Given the description of an element on the screen output the (x, y) to click on. 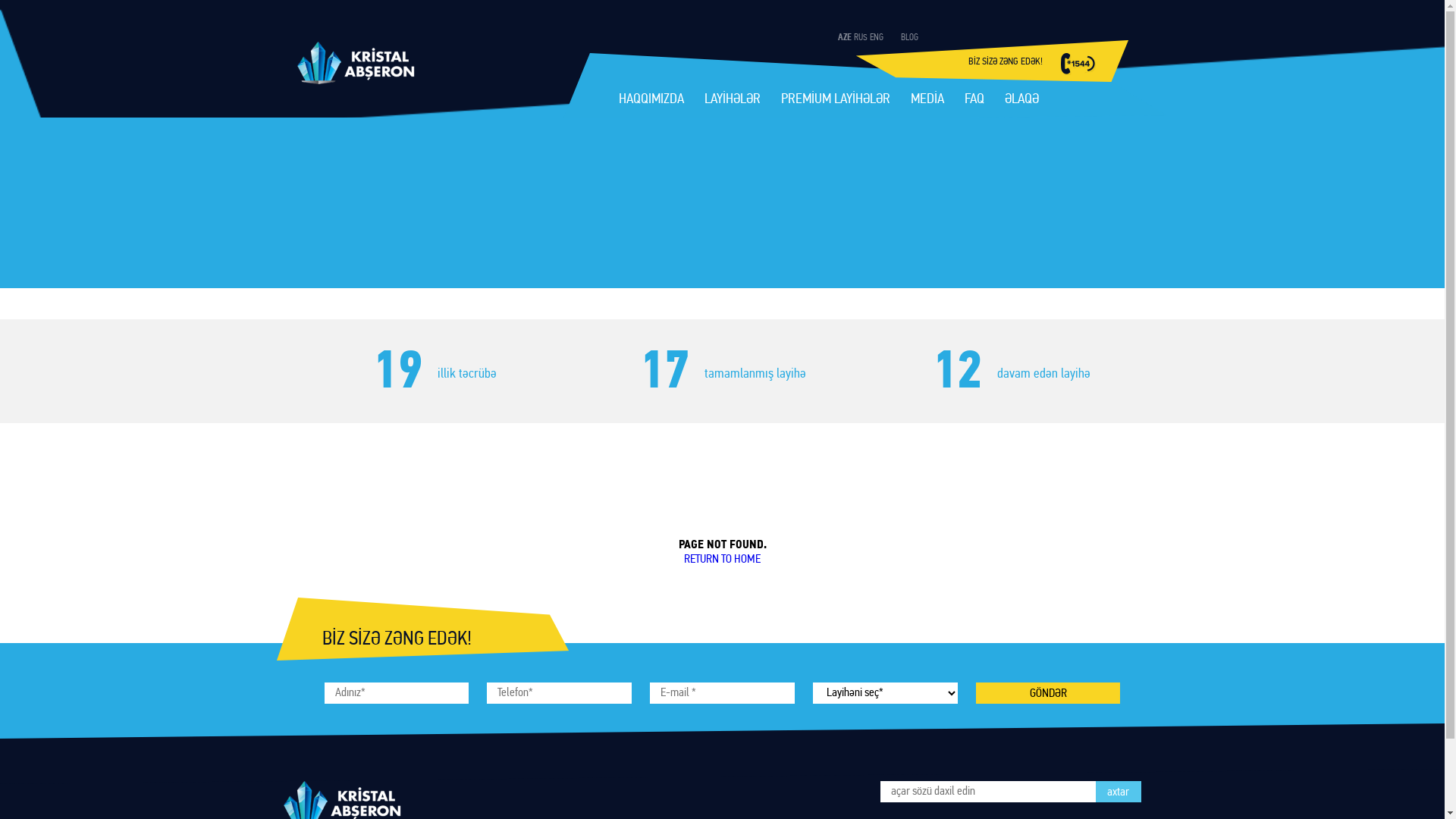
RUS Element type: text (860, 37)
HAQQIMIZDA Element type: text (651, 100)
axtar Element type: text (1117, 791)
BLOG Element type: text (909, 37)
ENG Element type: text (875, 37)
RETURN TO HOME Element type: text (722, 559)
FAQ Element type: text (974, 100)
AZE Element type: text (843, 37)
